Given the description of an element on the screen output the (x, y) to click on. 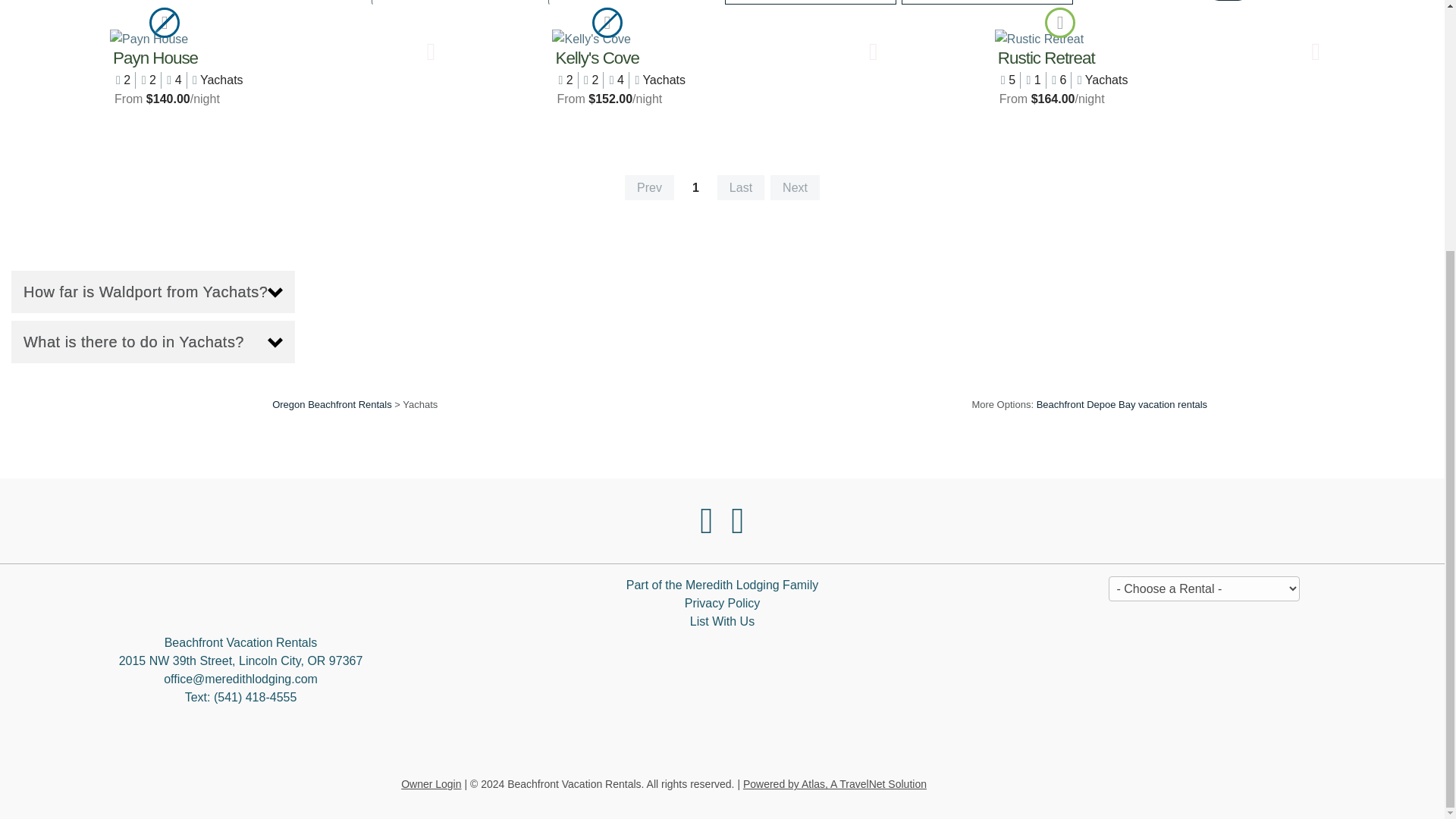
Favorite (873, 51)
Favorite (430, 51)
Favorite (1315, 51)
